Given the description of an element on the screen output the (x, y) to click on. 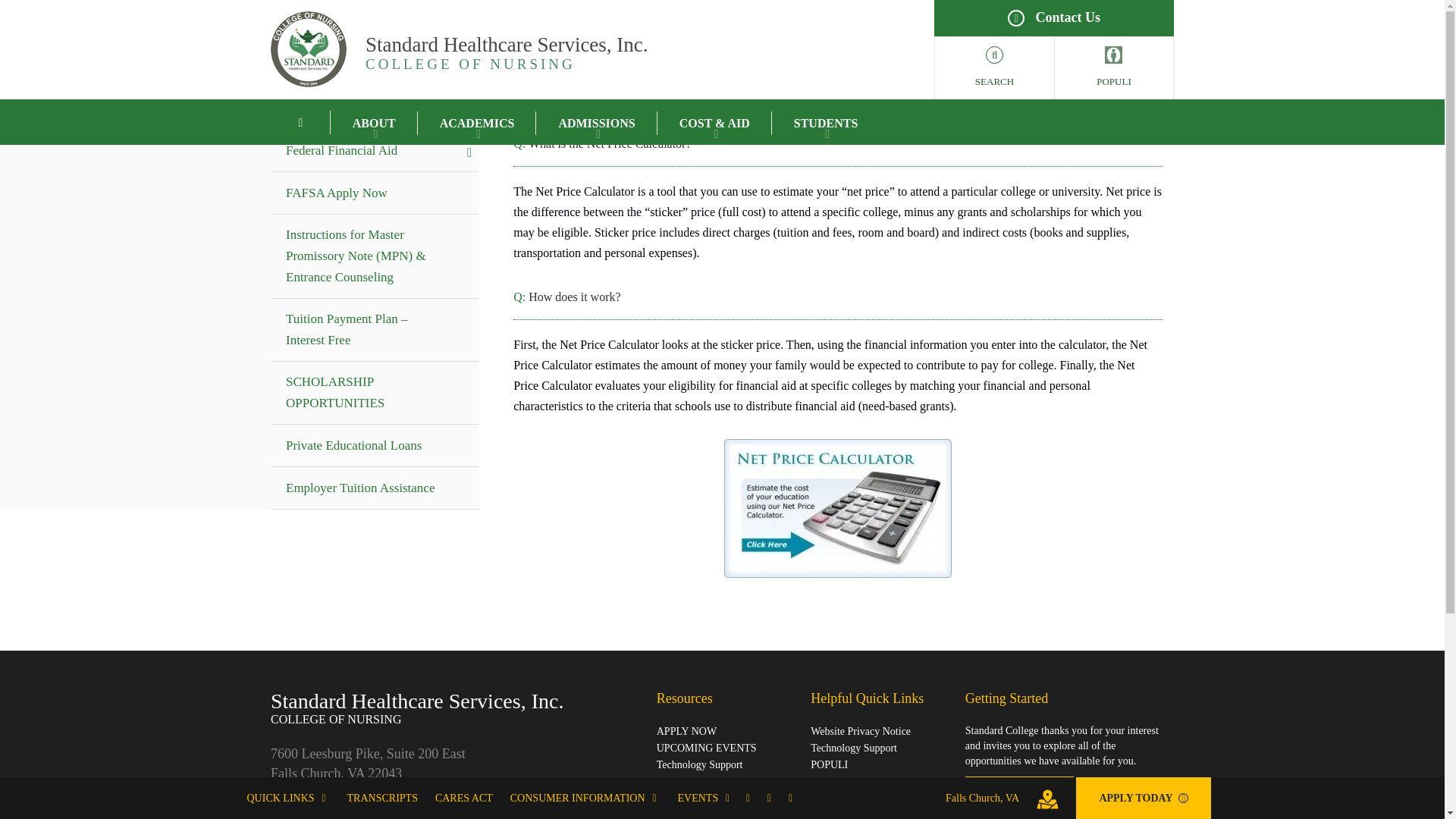
ACADEMICS (477, 122)
SEARCH (994, 67)
Contact Us (1053, 18)
Go to Standard Healthcare Services, Inc.. (573, 48)
POPULI (285, 63)
ABOUT (1113, 67)
